Given the description of an element on the screen output the (x, y) to click on. 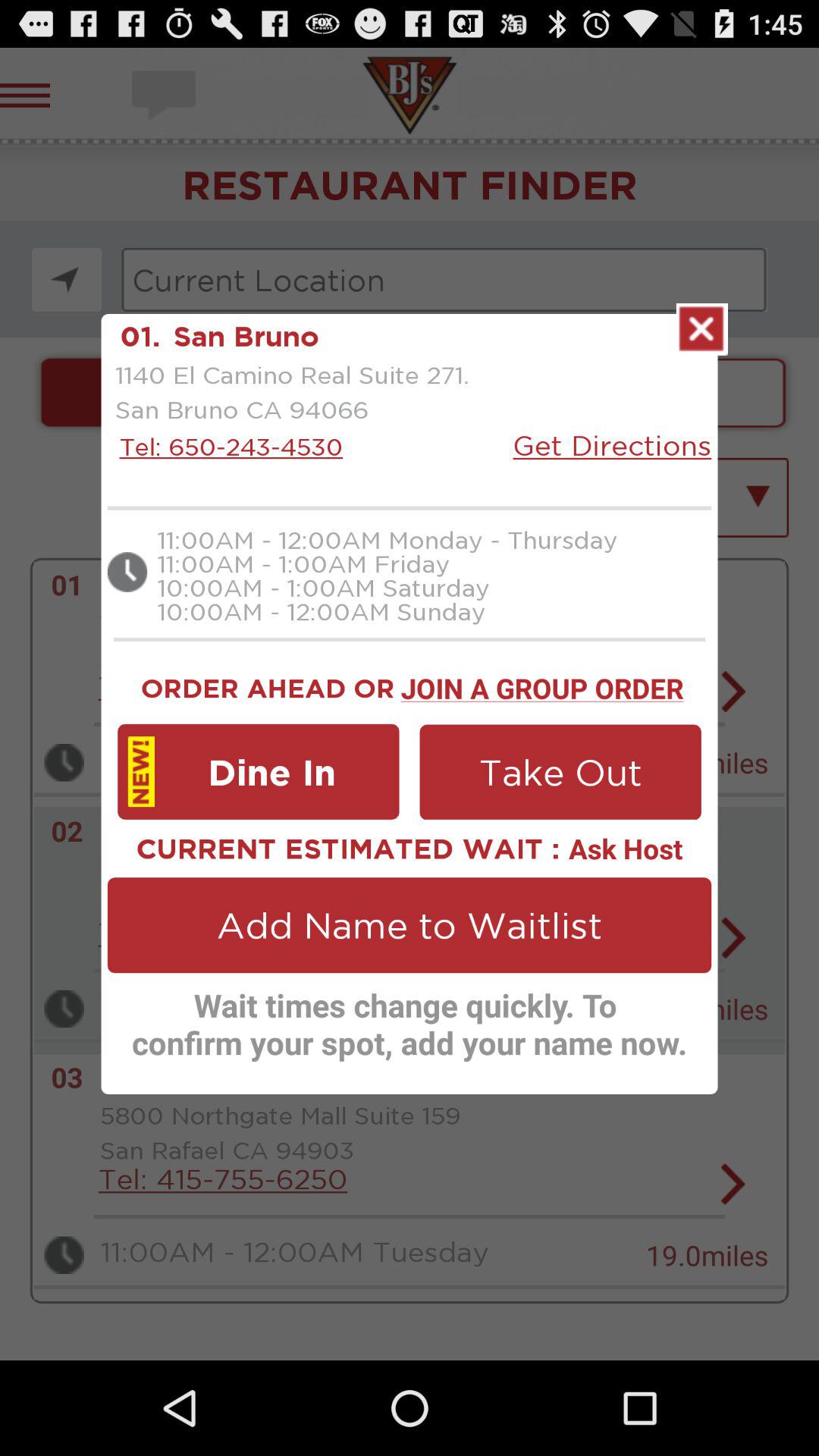
press icon to the right of 1140 el camino (612, 444)
